Given the description of an element on the screen output the (x, y) to click on. 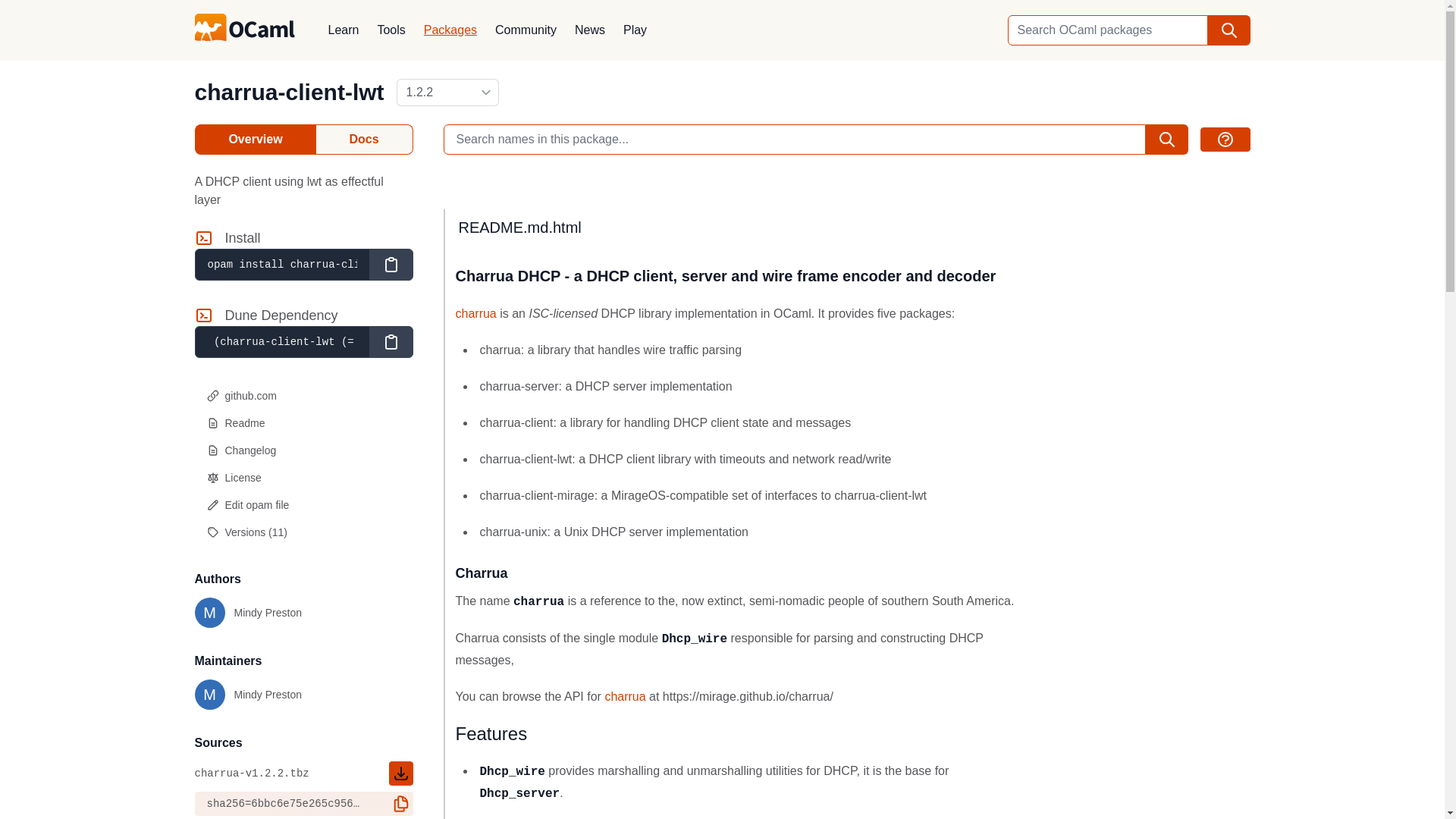
Changelog (302, 450)
Learn (343, 30)
Copy to clipboard (390, 264)
charrua-client-lwt (288, 91)
Copy to clipboard (390, 341)
Readme (302, 422)
opam install charrua-client-lwt.1.2.2 (281, 264)
github.com (302, 395)
copy checksum to clipboard (400, 803)
Community (526, 30)
License (302, 477)
show search instructions (1224, 139)
Overview (254, 139)
Edit opam file (302, 504)
Packages (450, 30)
